Given the description of an element on the screen output the (x, y) to click on. 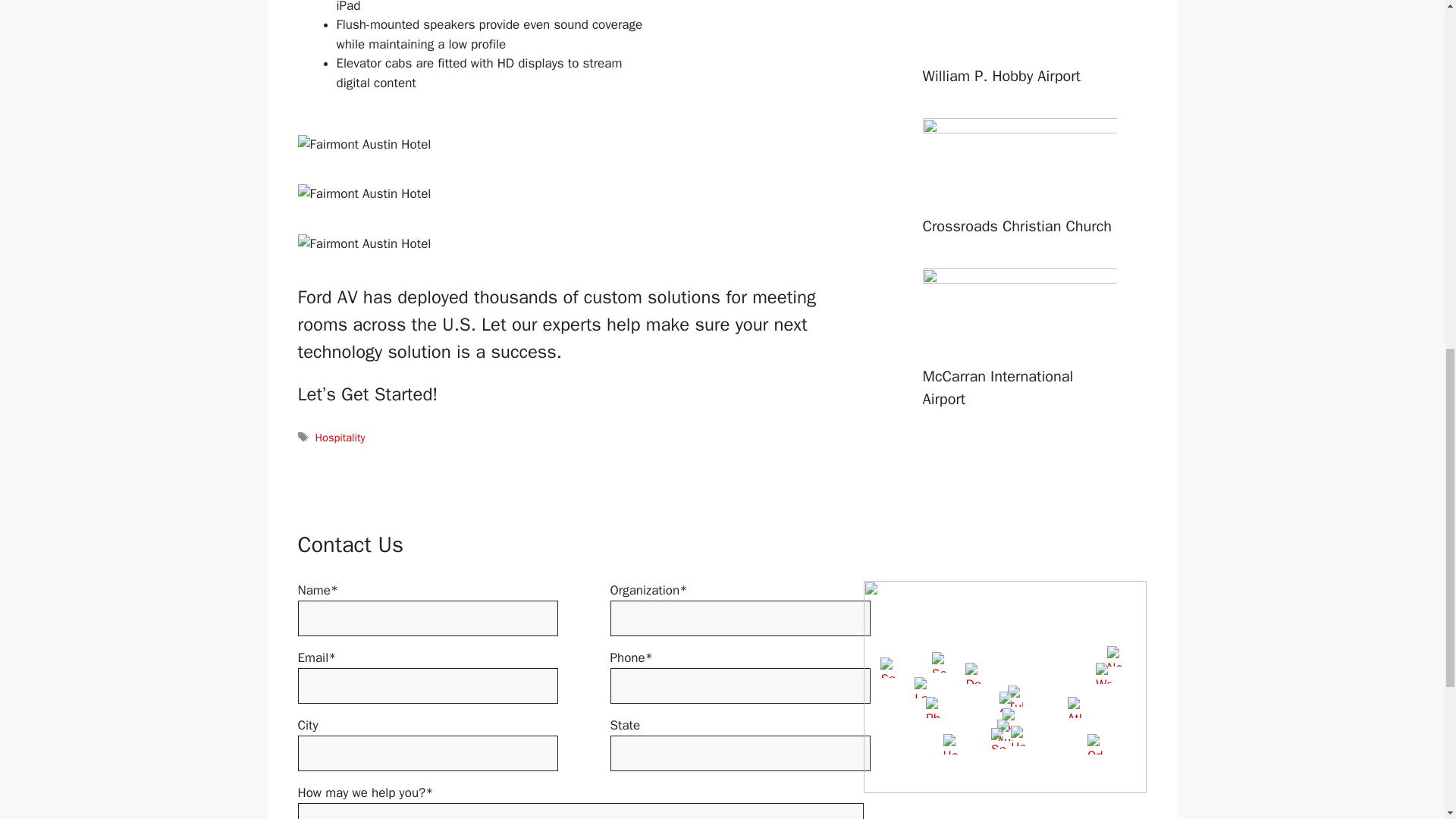
Hospitality (340, 437)
William P. Hobby Airport (1000, 75)
McCarran International Airport (997, 387)
Crossroads Christian Church (1016, 226)
